Given the description of an element on the screen output the (x, y) to click on. 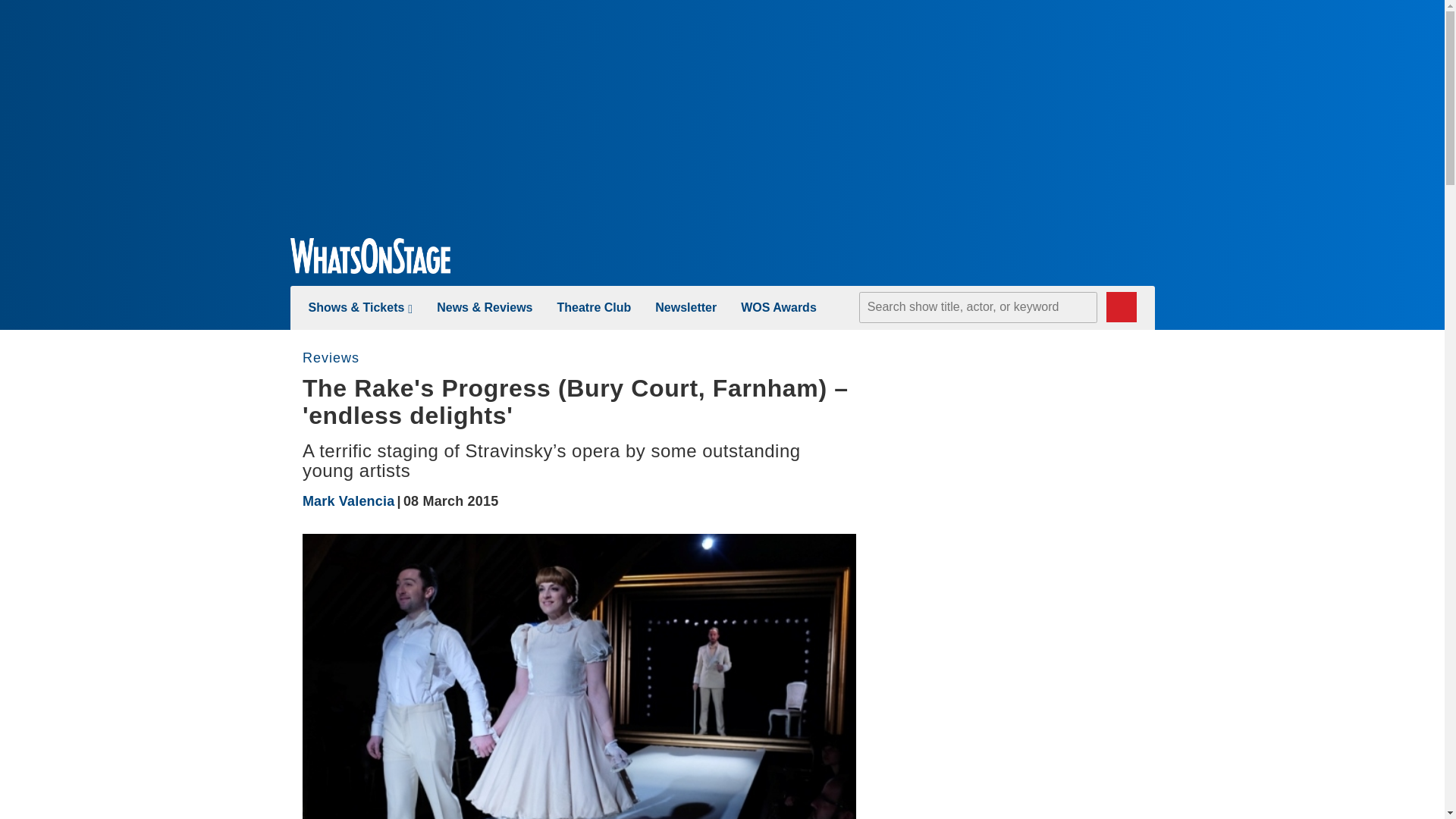
WOS Awards (778, 307)
new-and-reviews-link (484, 307)
Newsletter (685, 307)
Theatre Club (593, 307)
